Given the description of an element on the screen output the (x, y) to click on. 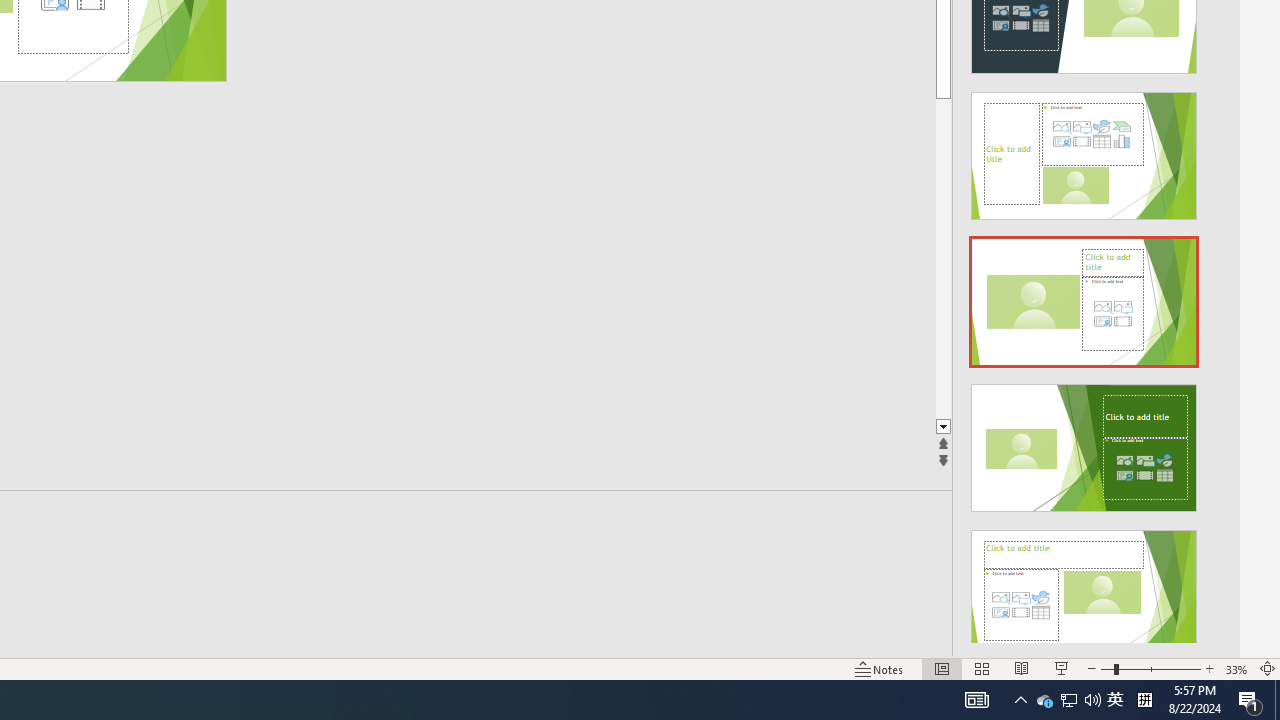
Page down (1011, 258)
Class: NetUIImage (1083, 593)
Zoom Out (1106, 668)
Slide Sorter (982, 668)
Line down (1011, 427)
Design Idea (1083, 587)
Zoom to Fit  (1267, 668)
Normal (941, 668)
Zoom In (1209, 668)
Zoom (1150, 668)
Notes  (879, 668)
Zoom 33% (1236, 668)
Reading View (1021, 668)
